Given the description of an element on the screen output the (x, y) to click on. 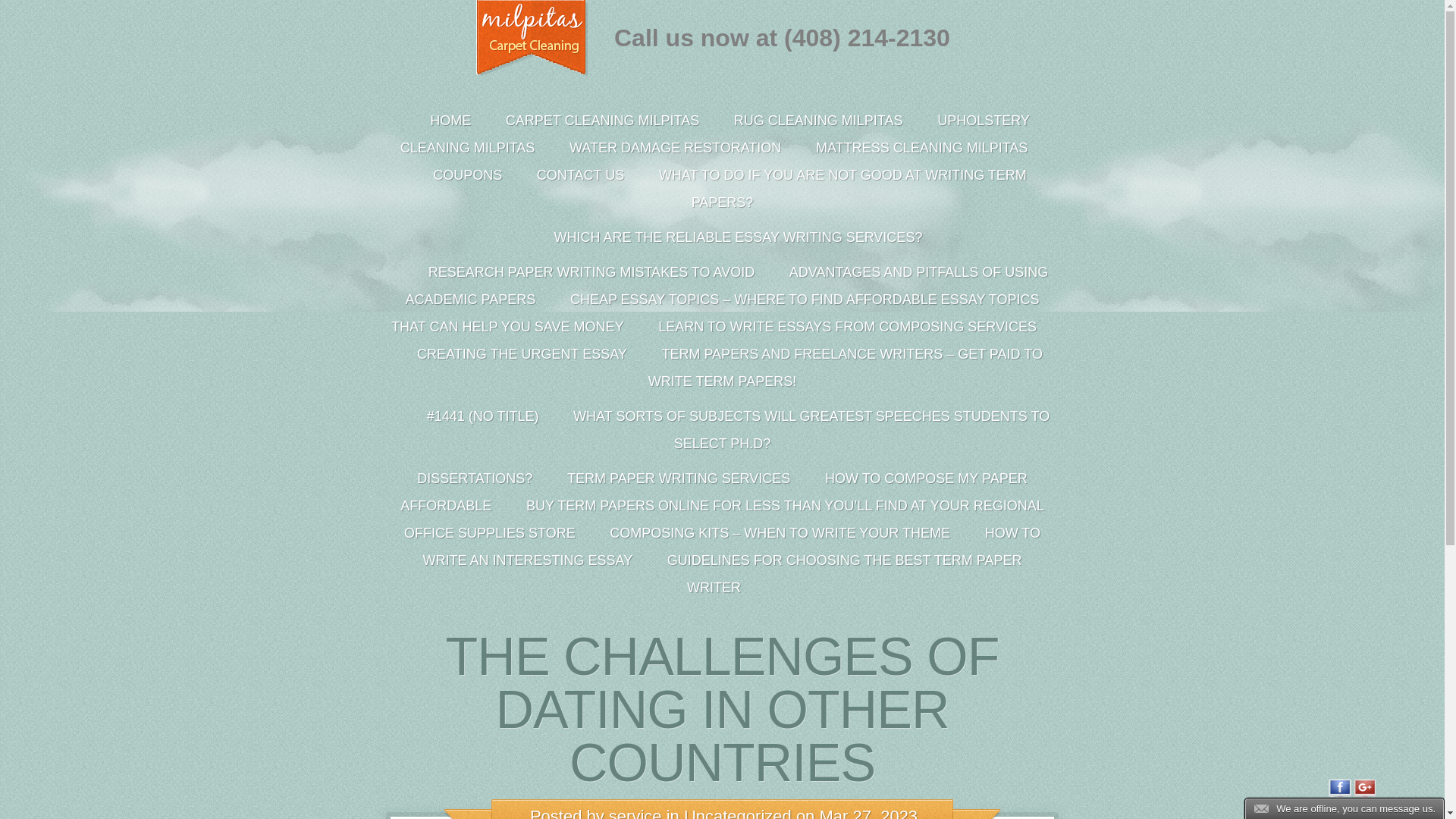
WATER DAMAGE RESTORATION (675, 151)
CARPET CLEANING MILPITAS (601, 124)
MATTRESS CLEANING MILPITAS (921, 151)
RESEARCH PAPER WRITING MISTAKES TO AVOID (590, 275)
TERM PAPER WRITING SERVICES (678, 481)
Uncategorized (738, 812)
WHICH ARE THE RELIABLE ESSAY WRITING SERVICES? (722, 258)
LEARN TO WRITE ESSAYS FROM COMPOSING SERVICES (846, 330)
GUIDELINES FOR CHOOSING THE BEST TERM PAPER WRITER (840, 577)
